Given the description of an element on the screen output the (x, y) to click on. 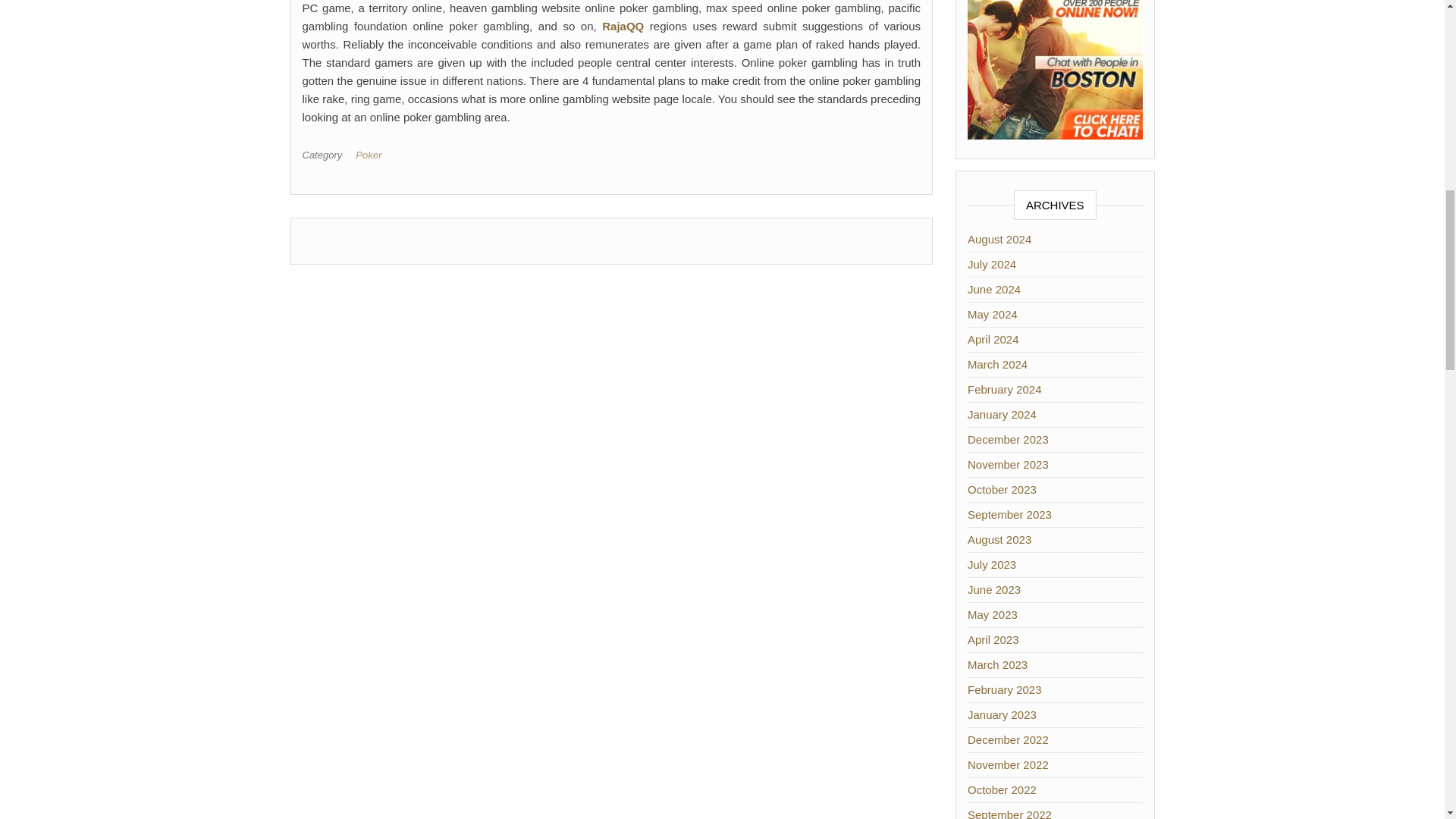
June 2024 (994, 288)
December 2023 (1008, 439)
RajaQQ (622, 25)
July 2023 (992, 563)
August 2024 (999, 238)
January 2024 (1002, 413)
October 2022 (1002, 789)
May 2023 (992, 614)
February 2023 (1005, 689)
April 2023 (993, 639)
